Given the description of an element on the screen output the (x, y) to click on. 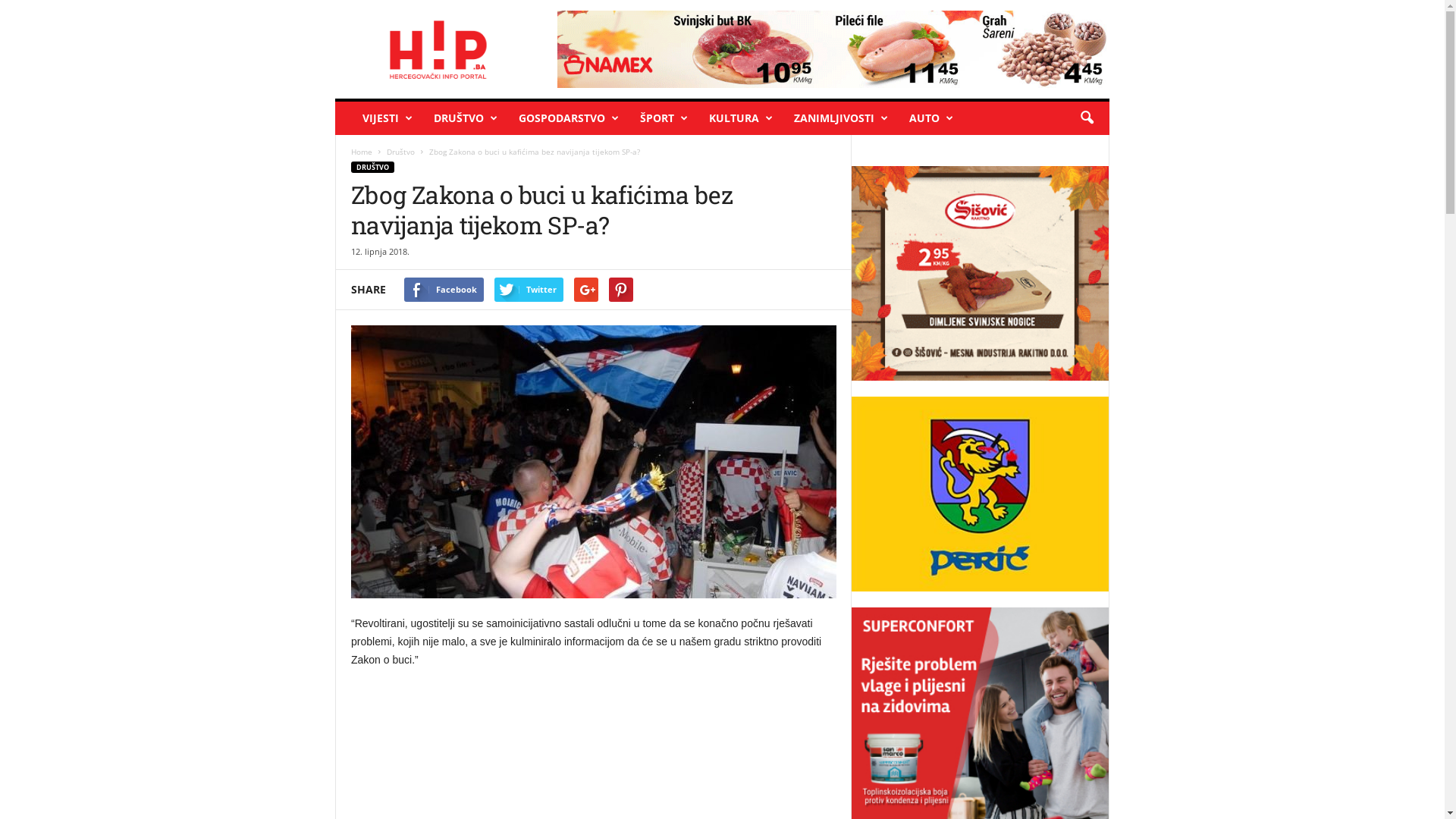
Twitter Element type: text (528, 289)
Facebook Element type: text (443, 289)
PXL_120618_2114[1] Element type: hover (593, 461)
VIJESTI Element type: text (386, 117)
Advertisement Element type: hover (593, 747)
AUTO Element type: text (930, 117)
KULTURA Element type: text (739, 117)
ZANIMLJIVOSTI Element type: text (839, 117)
Home Element type: text (362, 151)
GOSPODARSTVO Element type: text (567, 117)
